Given the description of an element on the screen output the (x, y) to click on. 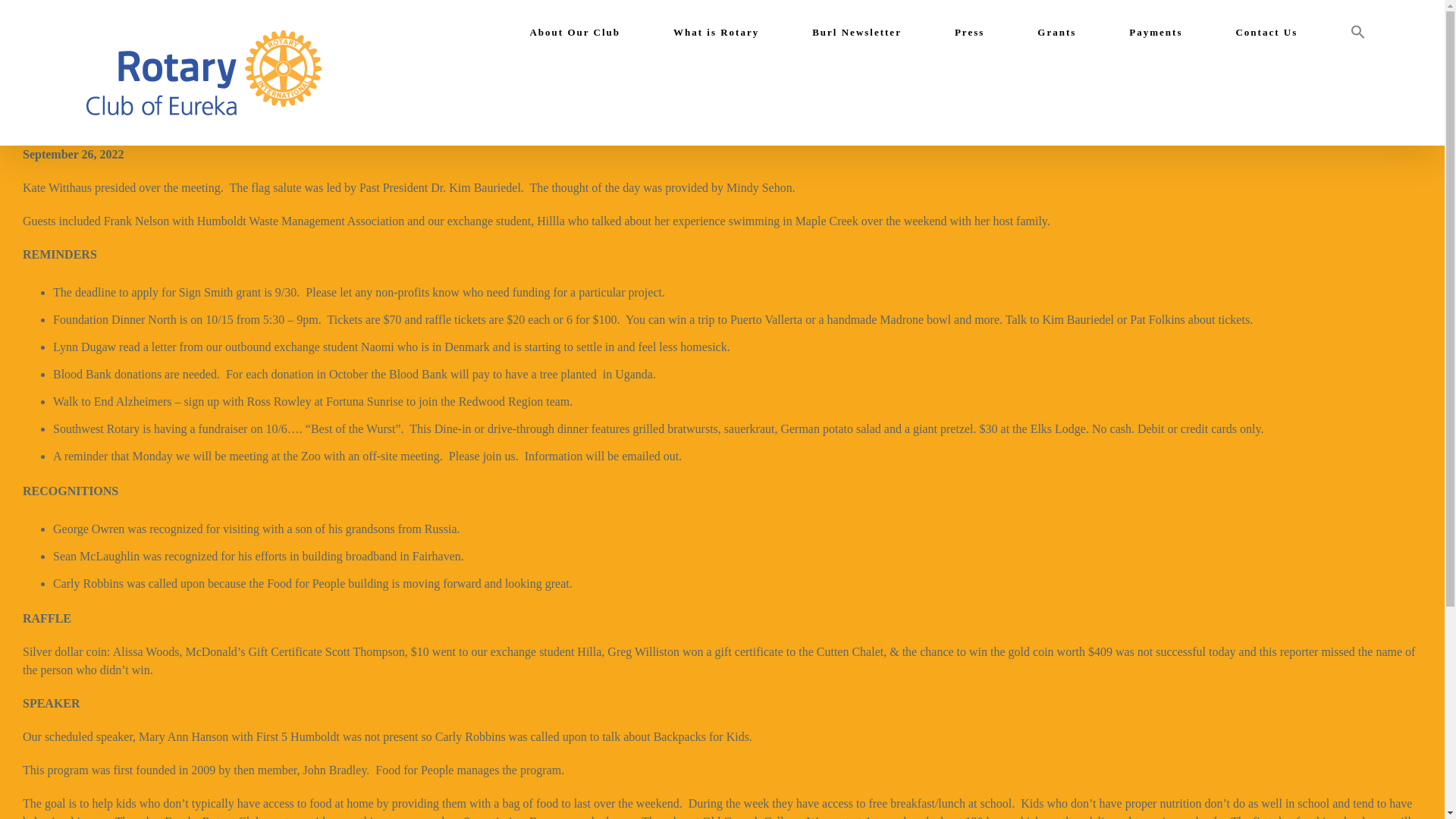
What is Rotary (715, 31)
Contact Us (1265, 31)
About Our Club (574, 31)
Burl Newsletter (856, 31)
